Given the description of an element on the screen output the (x, y) to click on. 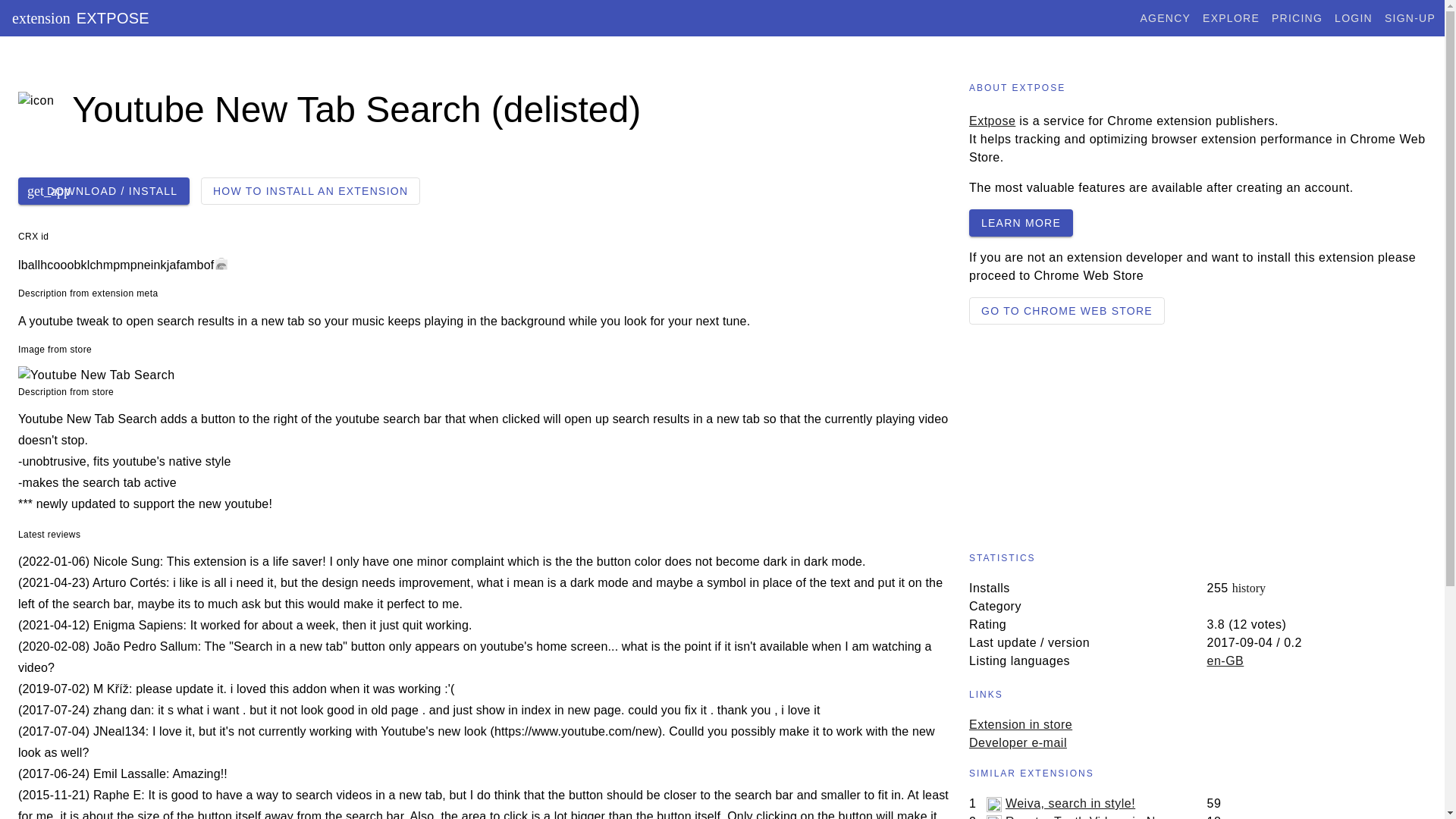
Weiva, search in style! (1070, 802)
EXPLORE (1230, 17)
Advertisement (1197, 430)
LEARN MORE (78, 17)
Rooster Teeth Videos in New Tab (1021, 222)
icon (1100, 816)
SIGN-UP (44, 109)
AGENCY (1409, 17)
LOGIN (1165, 17)
Extpose (1354, 17)
PRICING (991, 120)
history (1296, 17)
Login (1248, 587)
GO TO CHROME WEB STORE (1354, 17)
